Given the description of an element on the screen output the (x, y) to click on. 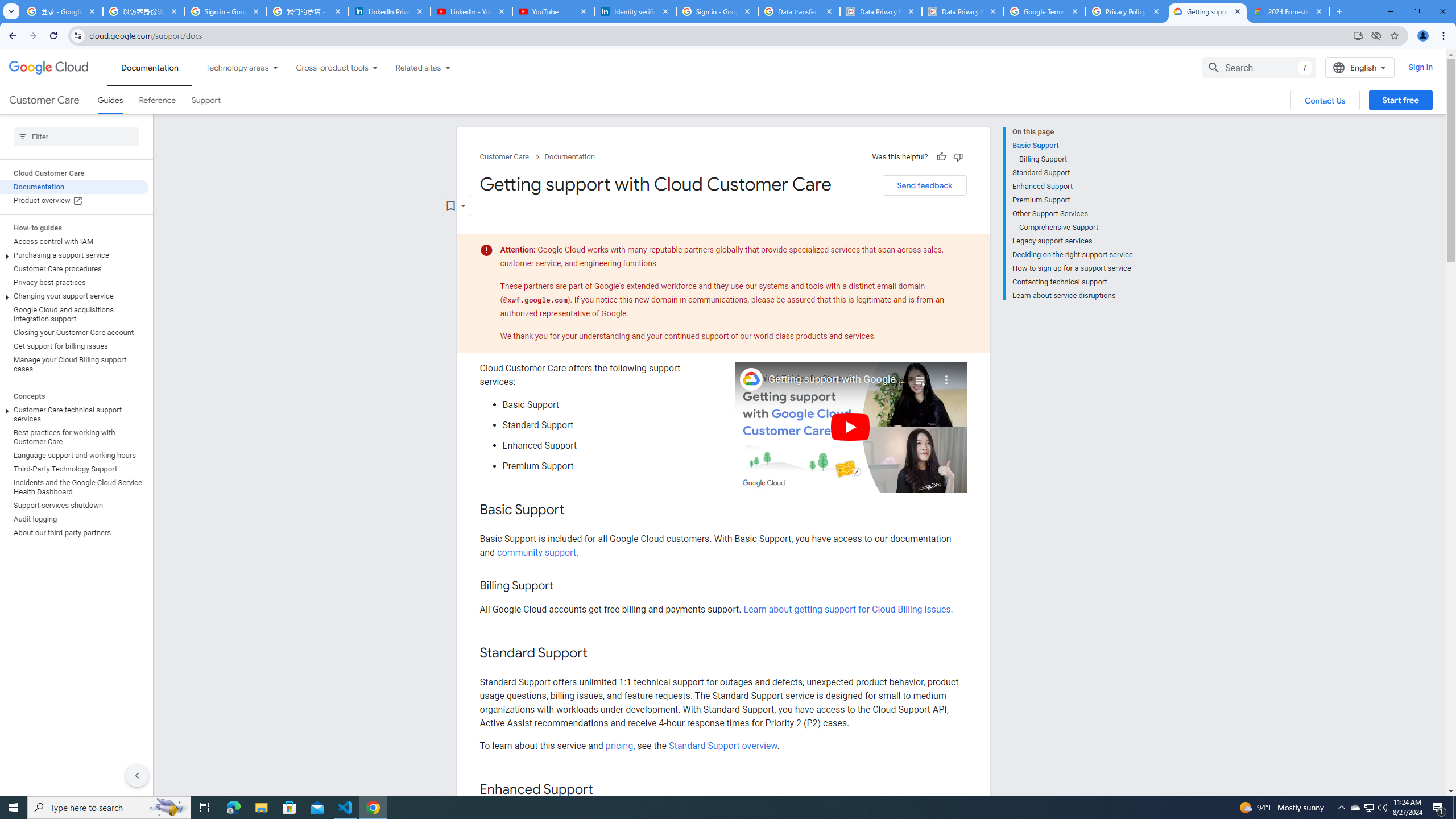
Data Privacy Framework (963, 11)
Documentation, selected (149, 67)
Third-party cookies blocked (1376, 35)
Search (1259, 67)
LinkedIn Privacy Policy (389, 11)
Audit logging (74, 518)
Support services shutdown (74, 505)
Not helpful (957, 156)
Best practices for working with Customer Care (74, 436)
Billing Support (1075, 159)
Standard Support (1071, 172)
Technology areas (230, 67)
Sign in (1420, 67)
Hide side navigation (136, 775)
Photo image of Google Cloud Tech (750, 378)
